Given the description of an element on the screen output the (x, y) to click on. 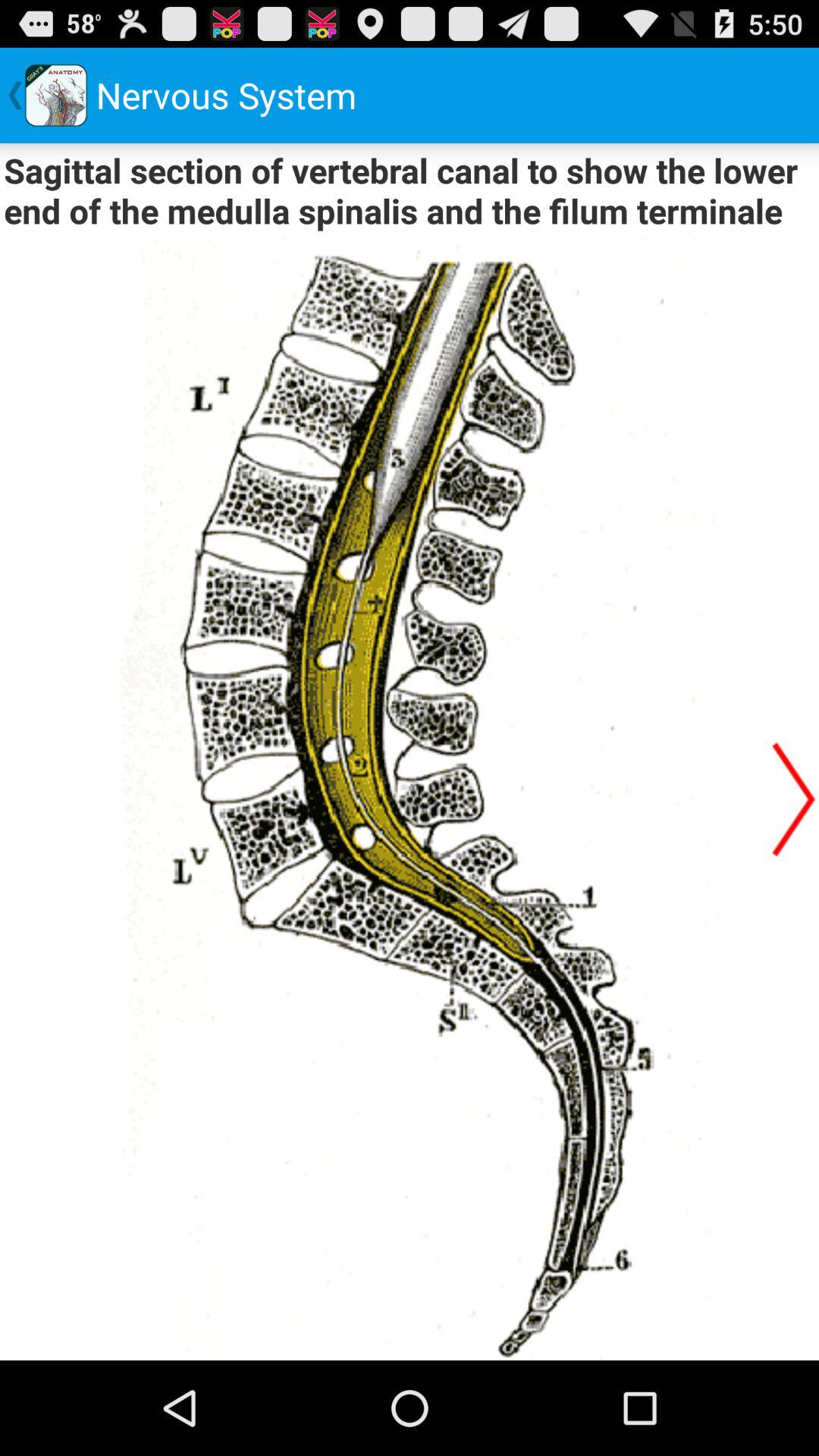
go to forward (793, 798)
